Given the description of an element on the screen output the (x, y) to click on. 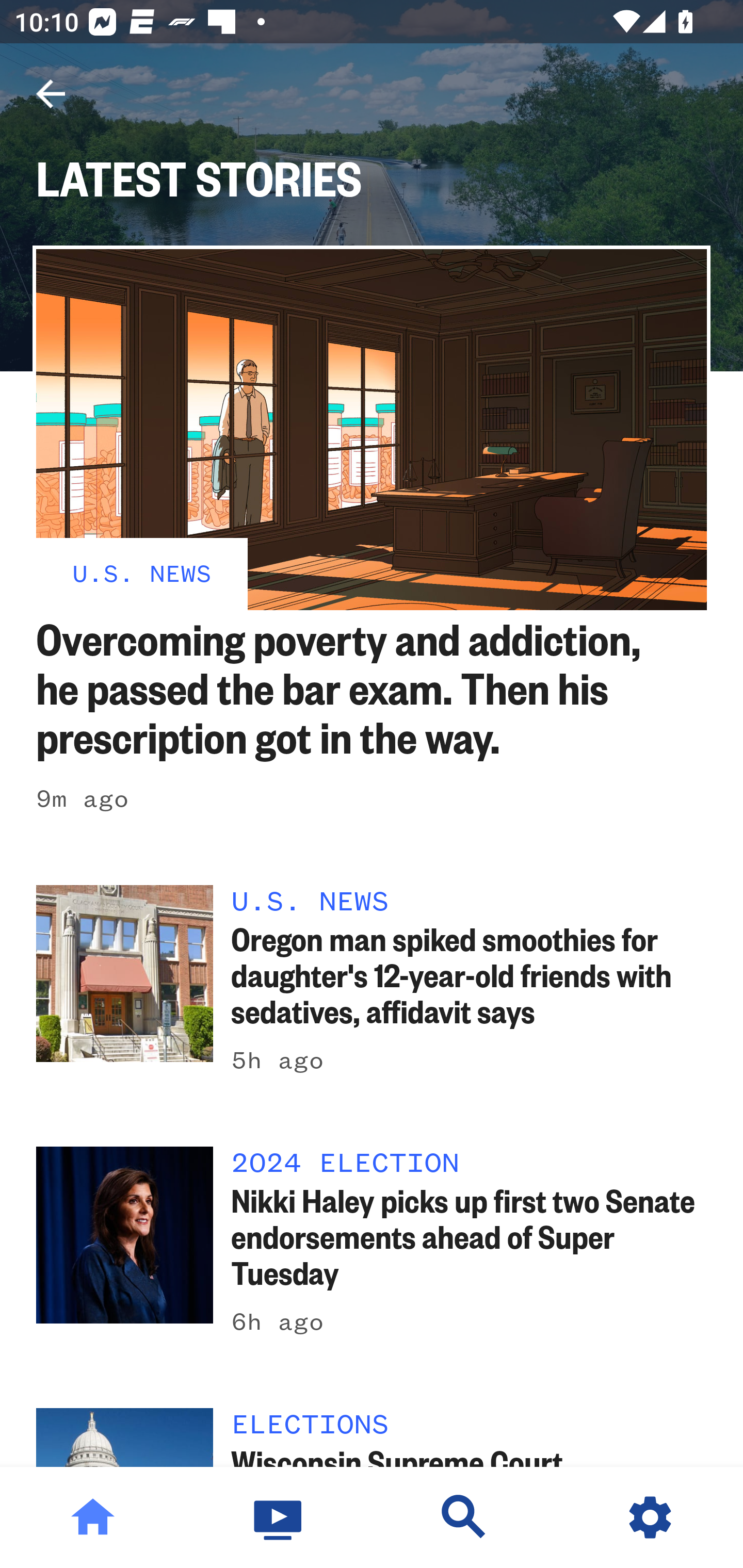
Navigate up (50, 93)
Watch (278, 1517)
Discover (464, 1517)
Settings (650, 1517)
